Given the description of an element on the screen output the (x, y) to click on. 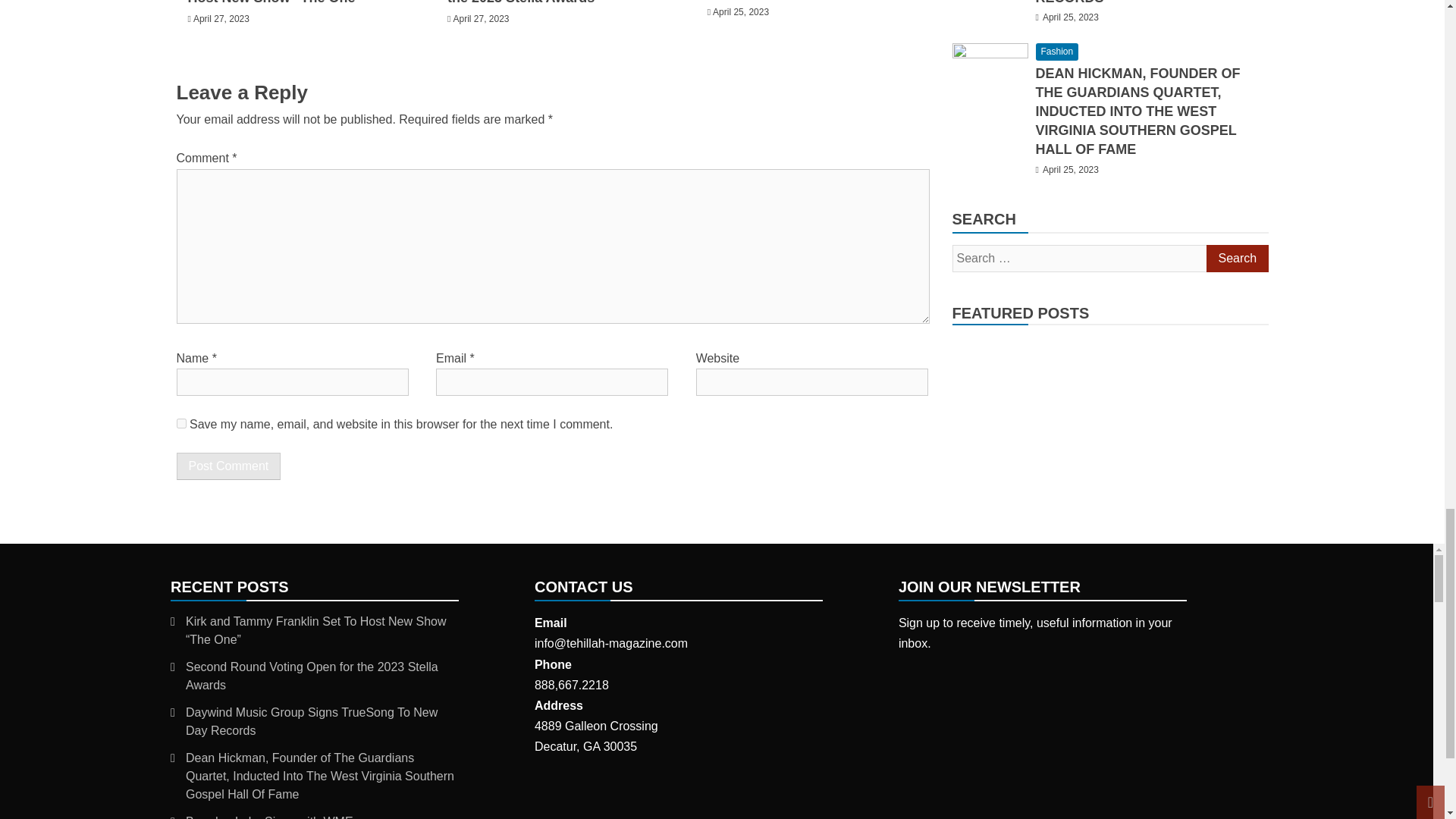
yes (181, 423)
Post Comment (228, 465)
April 27, 2023 (480, 18)
Search (1236, 257)
Second Round Voting Open for the 2023 Stella Awards (547, 2)
April 27, 2023 (220, 18)
Search (1236, 257)
